Given the description of an element on the screen output the (x, y) to click on. 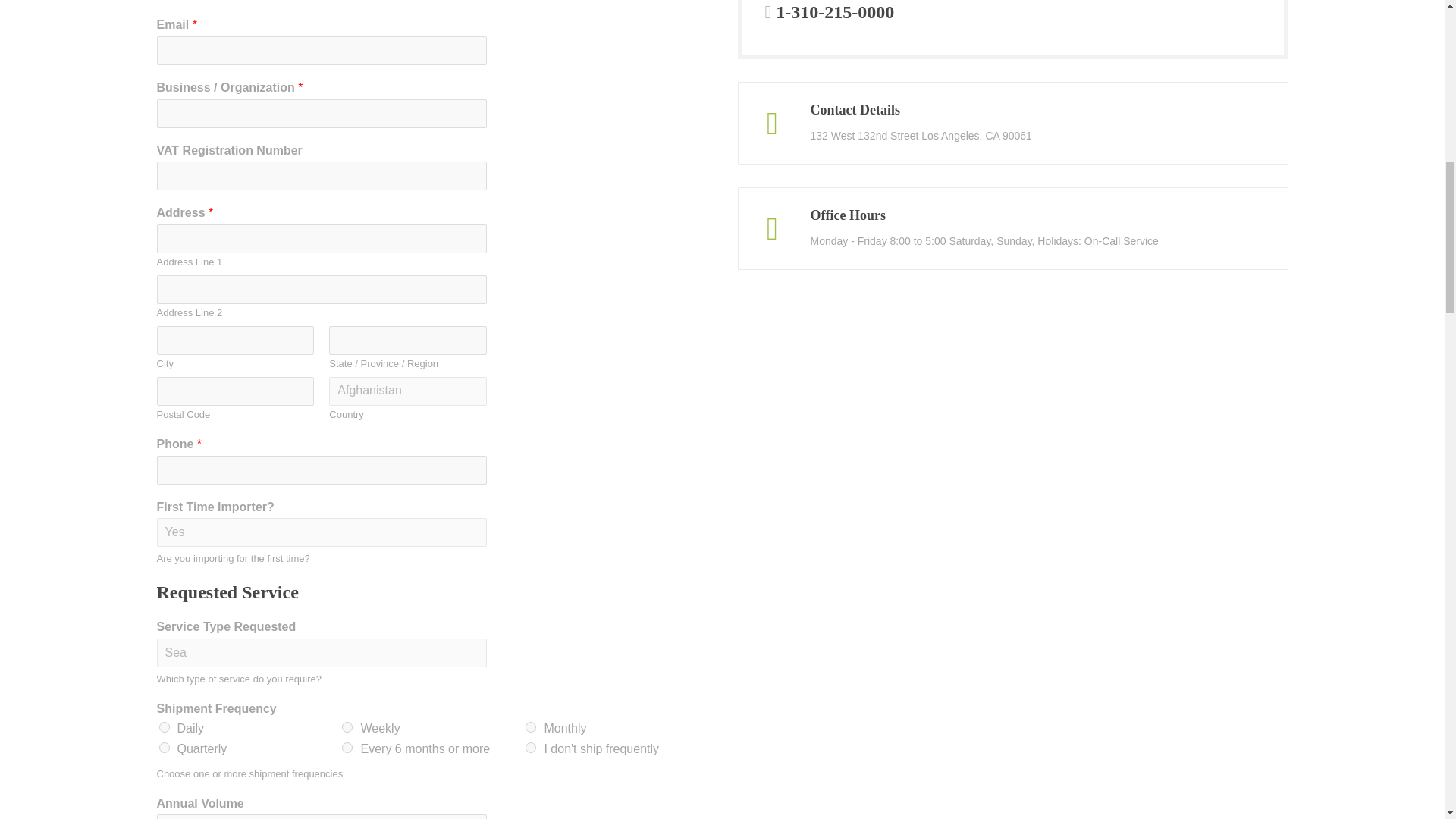
Quarterly (164, 747)
Monthly (530, 726)
I don't ship frequently (530, 747)
Daily (164, 726)
Weekly (347, 726)
Every 6 months or more (347, 747)
